Given the description of an element on the screen output the (x, y) to click on. 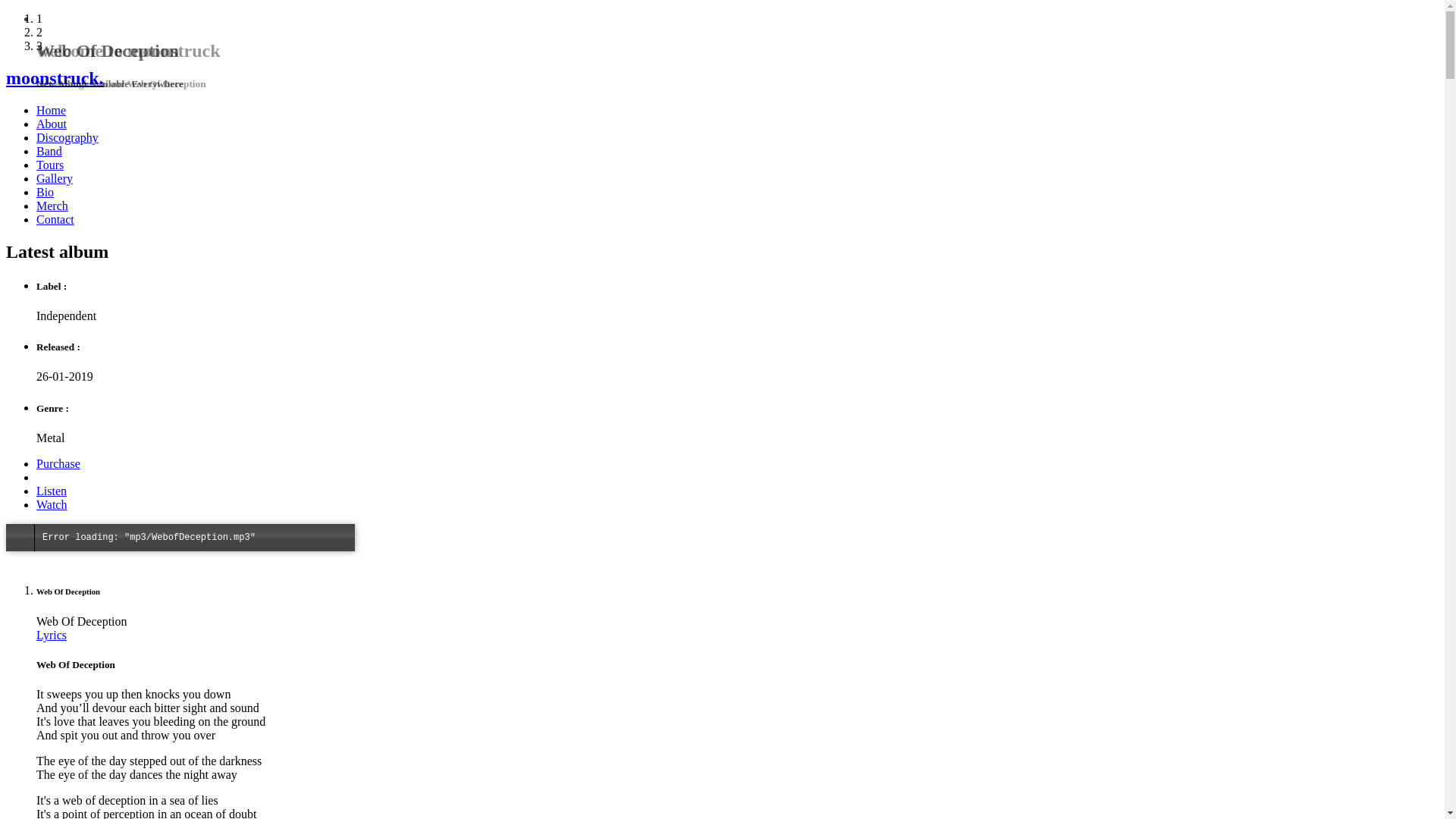
2 Element type: text (39, 31)
Watch Element type: text (51, 504)
Contact Element type: text (55, 219)
Bio Element type: text (44, 191)
Home Element type: text (50, 109)
Merch Element type: text (52, 205)
3 Element type: text (39, 45)
moonstruck. Element type: text (722, 78)
Listen Element type: text (51, 490)
Tours Element type: text (49, 164)
About Element type: text (51, 123)
Purchase Element type: text (58, 463)
Band Element type: text (49, 150)
Discography Element type: text (67, 137)
Gallery Element type: text (54, 178)
Lyrics Element type: text (51, 634)
1 Element type: text (39, 18)
